Given the description of an element on the screen output the (x, y) to click on. 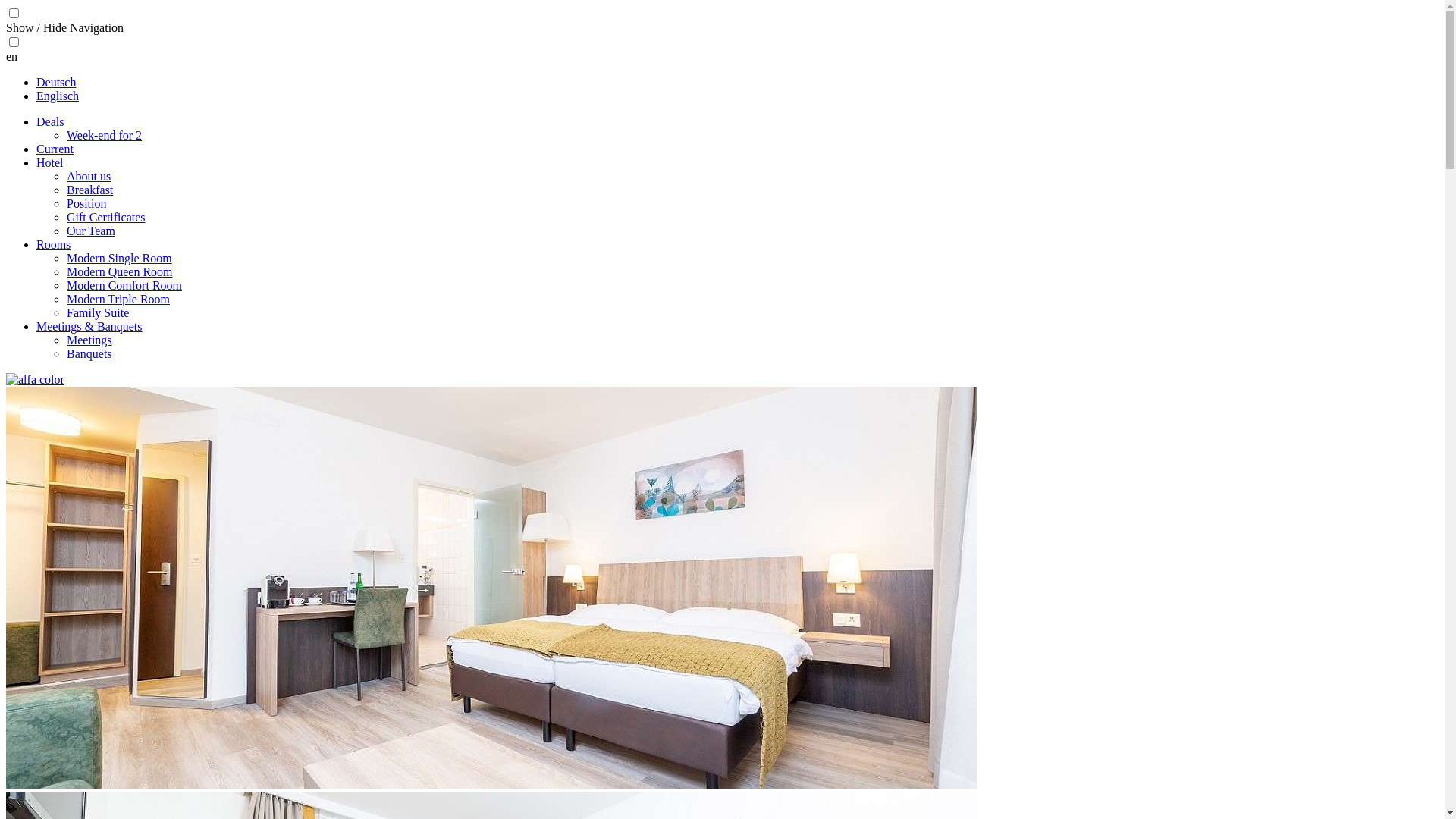
Back to home Element type: hover (35, 379)
Modern Comfort Room Element type: text (124, 285)
Banquets Element type: text (89, 353)
Meetings & Banquets Element type: text (89, 326)
Breakfast Element type: text (89, 189)
alfa color Element type: hover (35, 379)
Meetings Element type: text (89, 339)
Dreibettzimmer v2 Element type: hover (491, 587)
Modern Queen Room Element type: text (119, 271)
Family Suite Element type: text (97, 312)
About us Element type: text (88, 175)
Gift Certificates Element type: text (105, 216)
Modern Single Room Element type: text (119, 257)
Englisch Element type: text (57, 95)
Deals Element type: text (49, 121)
Dreibettzimmer v2 Element type: hover (491, 784)
Position Element type: text (86, 203)
Hotel Element type: text (49, 162)
Modern Triple Room Element type: text (117, 298)
Deutsch Element type: text (55, 81)
Week-end for 2 Element type: text (103, 134)
Our Team Element type: text (90, 230)
Rooms Element type: text (53, 244)
Current Element type: text (54, 148)
